Given the description of an element on the screen output the (x, y) to click on. 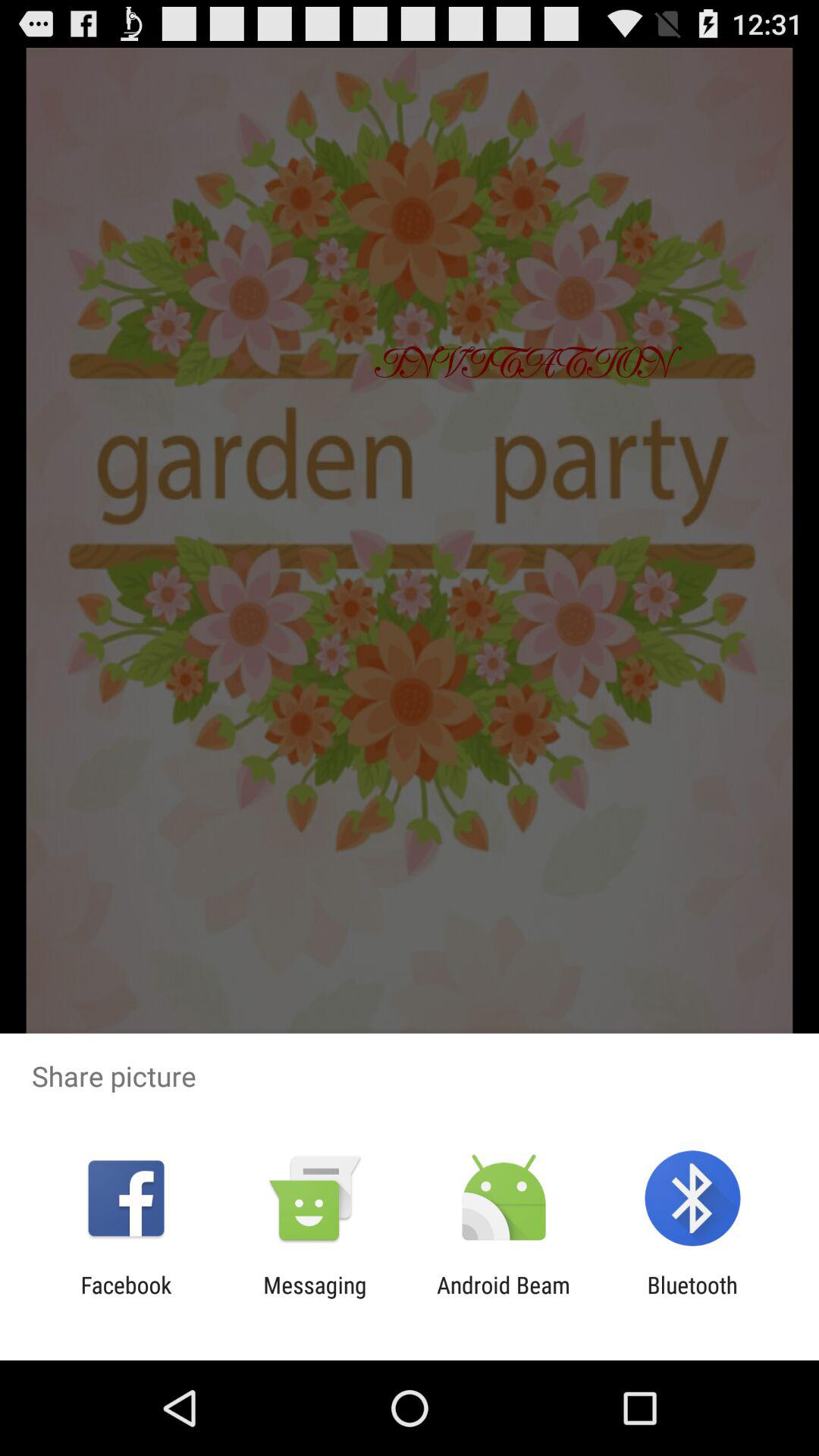
open app next to android beam icon (314, 1298)
